Given the description of an element on the screen output the (x, y) to click on. 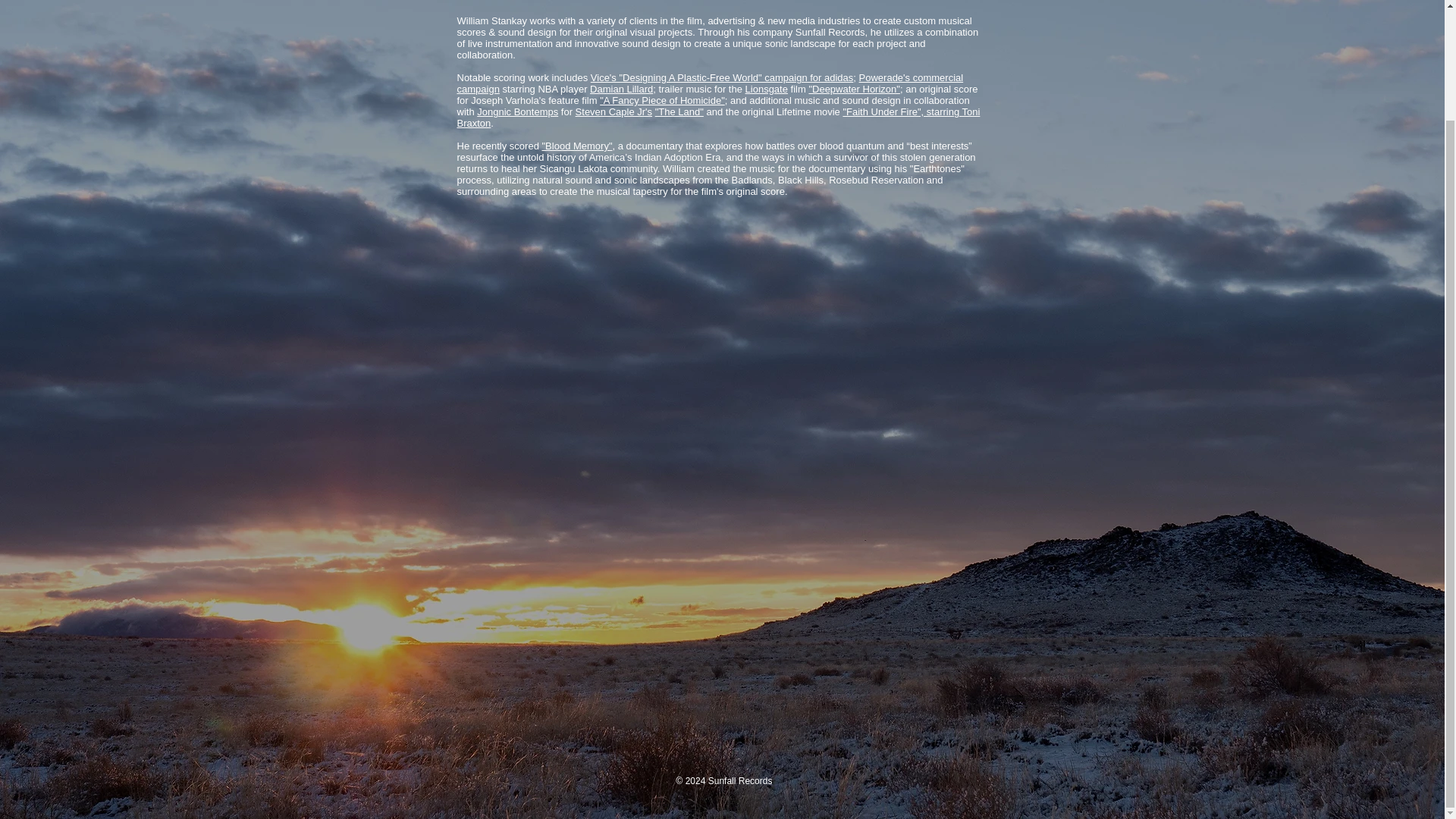
"Blood Memory" (576, 145)
"Deepwater Horizon" (853, 89)
Jongnic Bontemps (517, 111)
Steven Caple Jr's (613, 111)
"Faith Under Fire", starring Toni Braxton (718, 117)
Damian Lillard (620, 89)
Lionsgate (766, 89)
"A Fancy Piece of Homicide" (662, 100)
Powerade's commercial campaign (709, 83)
Vice's "Designing A Plastic-Free World" campaign for adidas (722, 77)
"The Land" (679, 111)
